Given the description of an element on the screen output the (x, y) to click on. 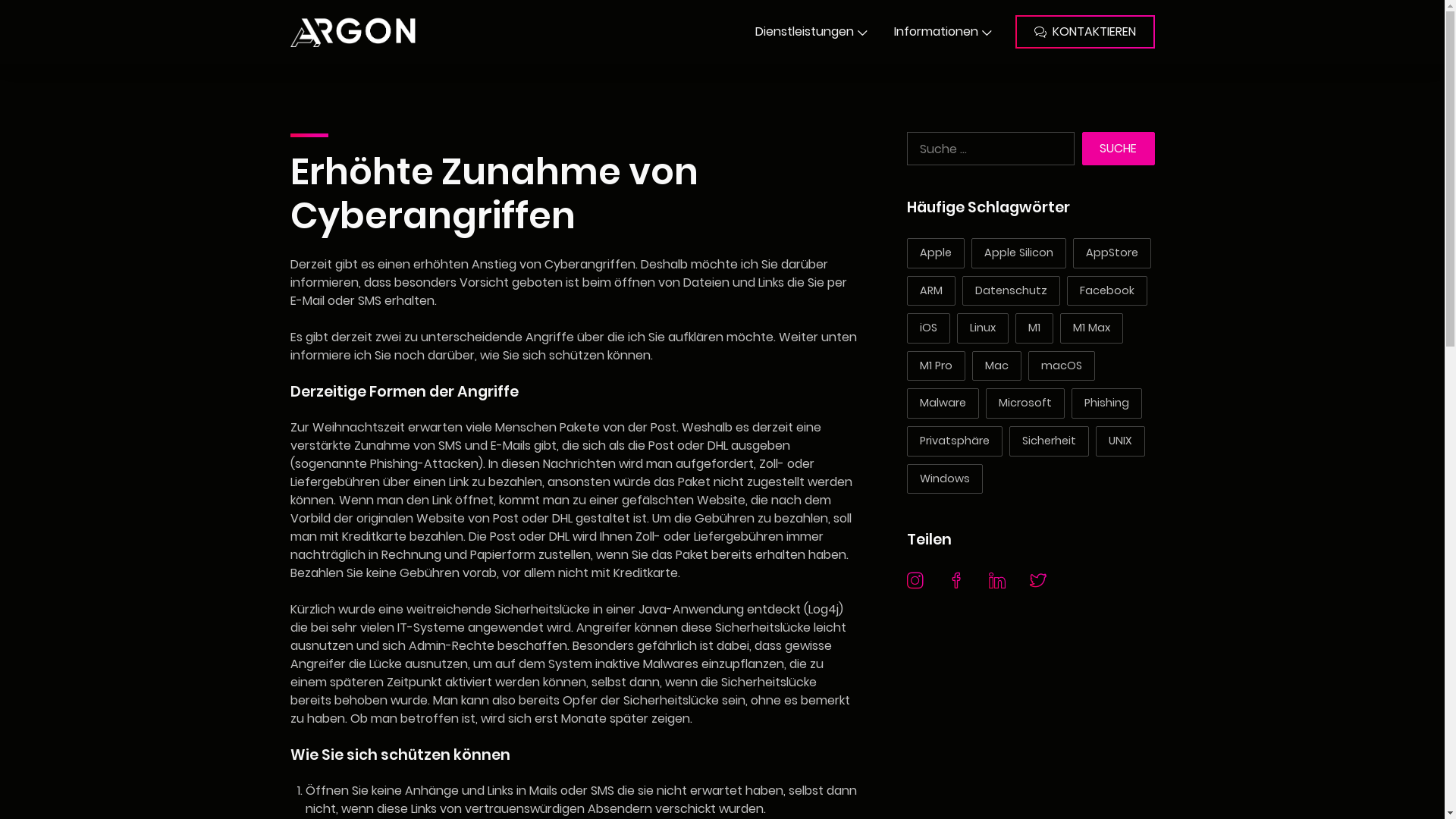
Dienstleistungen Element type: text (810, 31)
KONTAKTIEREN Element type: text (1084, 31)
Microsoft Element type: text (1024, 403)
AppStore Element type: text (1111, 253)
iOS Element type: text (928, 328)
Windows Element type: text (944, 479)
UNIX Element type: text (1119, 441)
Apple Silicon Element type: text (1017, 253)
Informationen Element type: text (942, 31)
Mac Element type: text (996, 366)
M1 Max Element type: text (1091, 328)
macOS Element type: text (1061, 366)
Facebook Element type: text (1106, 291)
M1 Element type: text (1033, 328)
Suche Element type: text (1118, 148)
Linux Element type: text (982, 328)
Malware Element type: text (942, 403)
Datenschutz Element type: text (1010, 291)
Sicherheit Element type: text (1048, 441)
Phishing Element type: text (1105, 403)
ARM Element type: text (930, 291)
Apple Element type: text (935, 253)
M1 Pro Element type: text (935, 366)
